Given the description of an element on the screen output the (x, y) to click on. 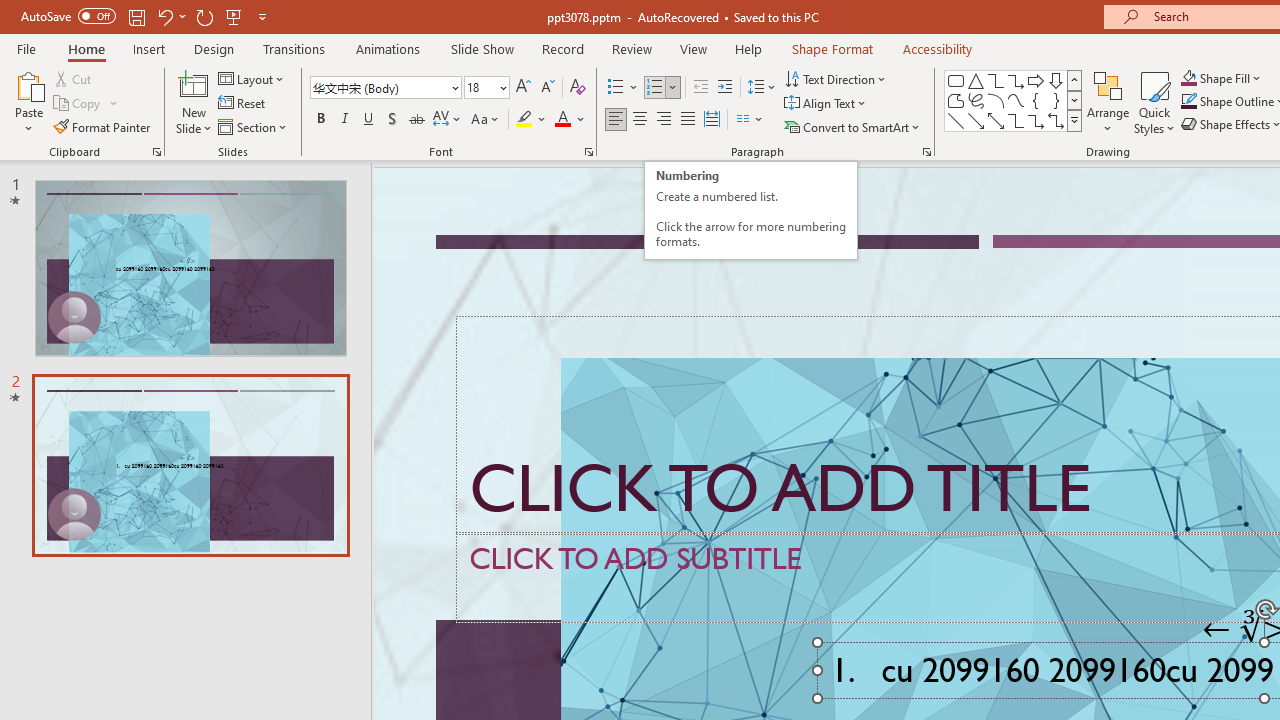
Decrease Font Size (547, 87)
Increase Font Size (522, 87)
Change Case (486, 119)
Shape Fill (1221, 78)
Format Painter (103, 126)
Arc (995, 100)
Office Clipboard... (156, 151)
